Given the description of an element on the screen output the (x, y) to click on. 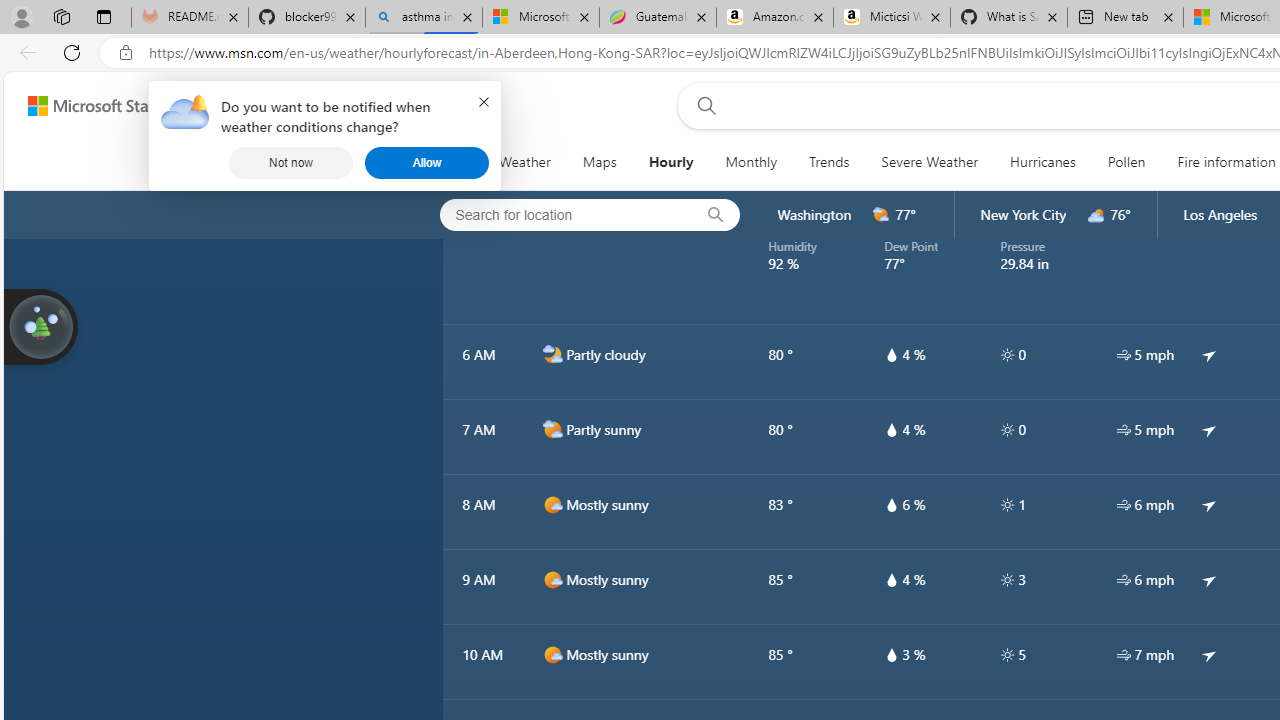
d1000 (552, 655)
Fire information (1226, 162)
Monthly (751, 162)
Trends (829, 162)
n2000 (552, 354)
Search for location (560, 214)
Pollen (1126, 162)
